Given the description of an element on the screen output the (x, y) to click on. 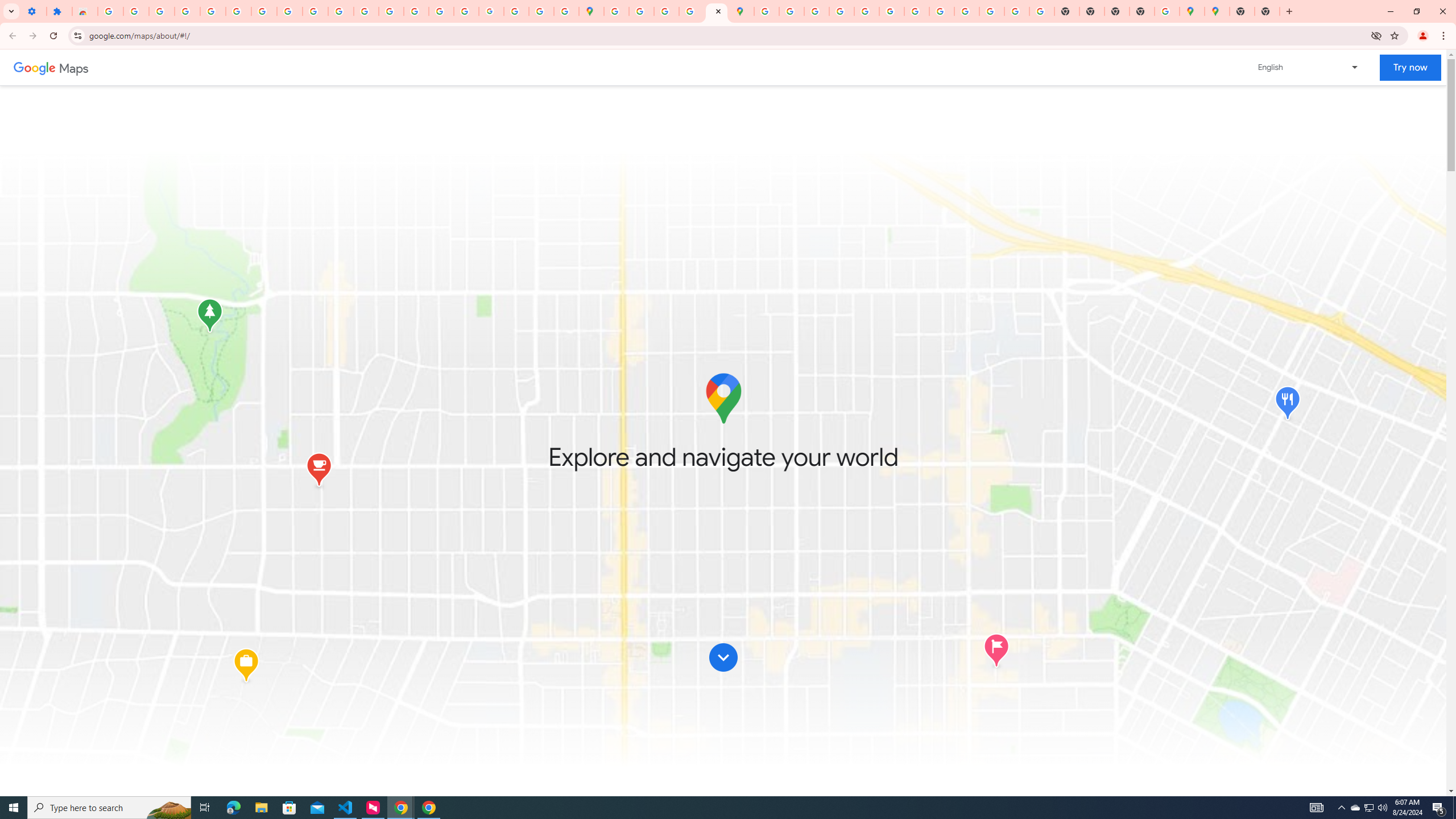
Google (34, 67)
Use Google Maps in Space - Google Maps Help (1166, 11)
Google Maps (1191, 11)
Delete photos & videos - Computer - Google Photos Help (135, 11)
